Given the description of an element on the screen output the (x, y) to click on. 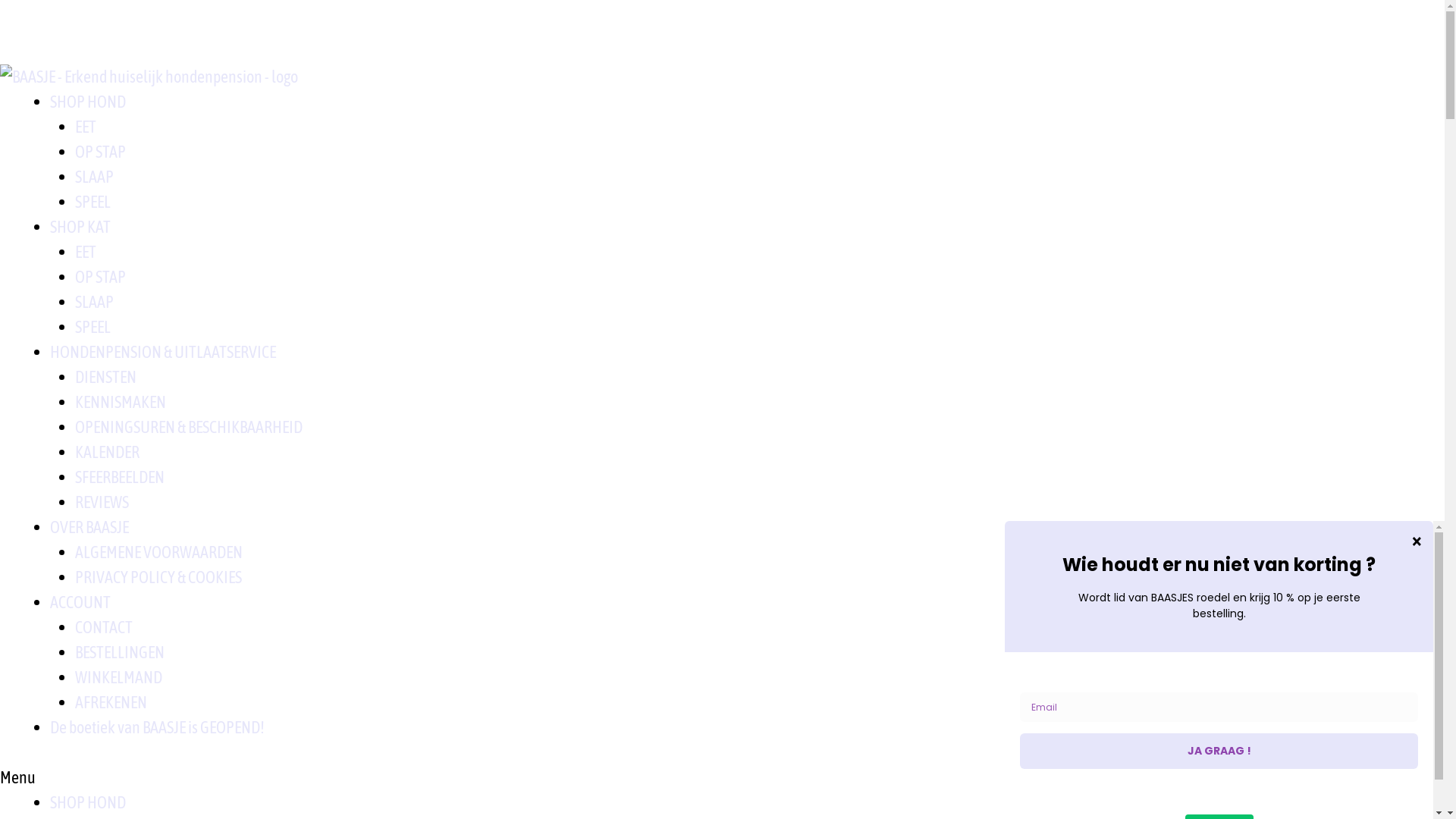
SHOP HOND Element type: text (87, 101)
EET Element type: text (85, 251)
SPEEL Element type: text (92, 326)
HONDENPENSION & UITLAATSERVICE Element type: text (163, 351)
BESTELLINGEN Element type: text (119, 652)
REVIEWS Element type: text (101, 501)
ALGEMENE VOORWAARDEN Element type: text (158, 551)
ACCOUNT Element type: text (80, 601)
SPEEL Element type: text (92, 201)
PRIVACY POLICY & COOKIES Element type: text (158, 576)
SFEERBEELDEN Element type: text (119, 476)
SLAAP Element type: text (94, 176)
OPENINGSUREN & BESCHIKBAARHEID Element type: text (188, 426)
EET Element type: text (85, 126)
SHOP HOND Element type: text (87, 802)
DIENSTEN Element type: text (105, 376)
KENNISMAKEN Element type: text (120, 401)
De boetiek van BAASJE is GEOPEND! Element type: text (157, 727)
WINKELMAND Element type: text (118, 677)
OP STAP Element type: text (100, 151)
KALENDER Element type: text (107, 451)
CONTACT Element type: text (103, 627)
SLAAP Element type: text (94, 301)
AFREKENEN Element type: text (111, 702)
SHOP KAT Element type: text (80, 226)
OVER BAASJE Element type: text (89, 526)
OP STAP Element type: text (100, 276)
